Given the description of an element on the screen output the (x, y) to click on. 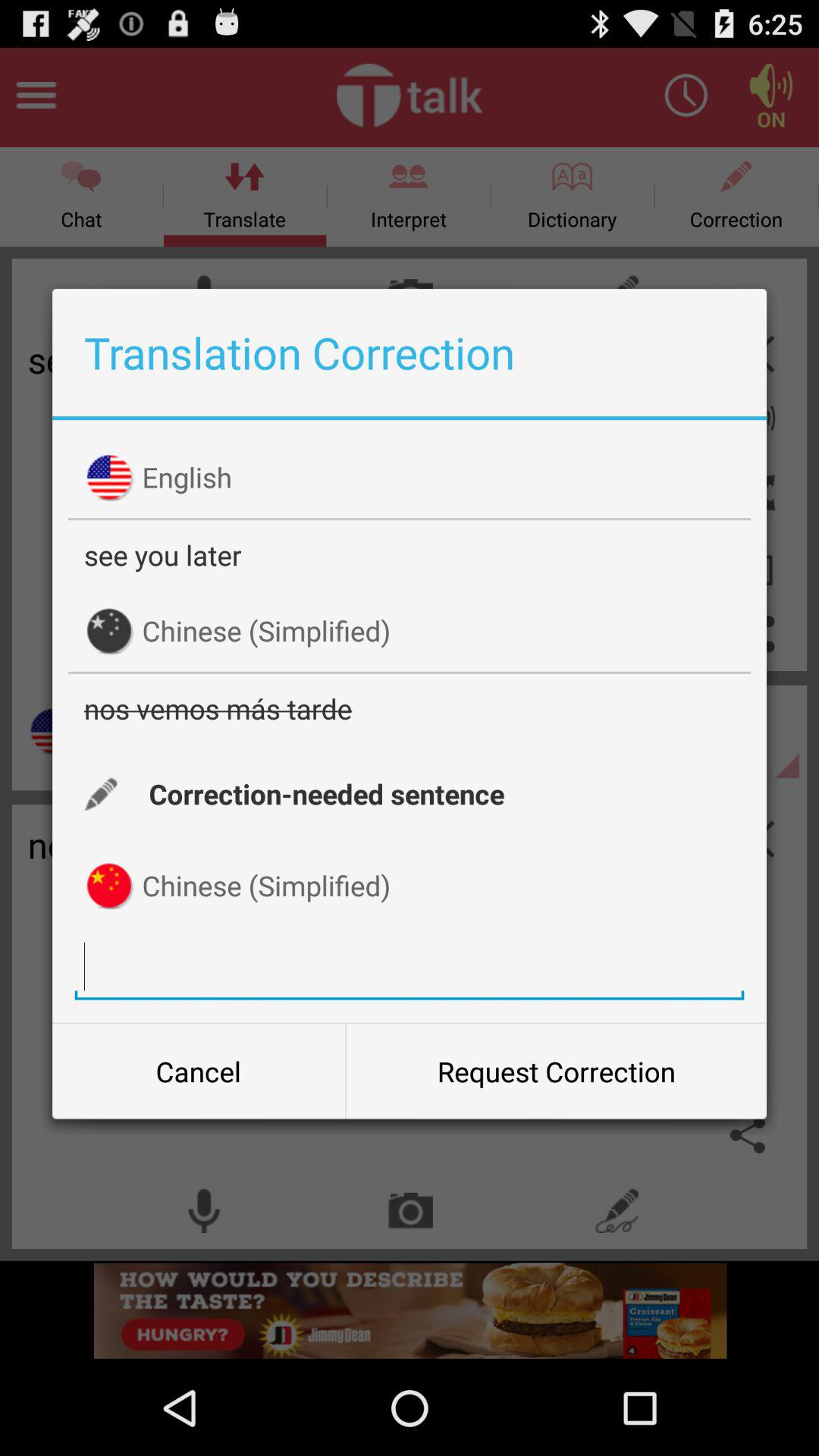
open button next to request correction icon (198, 1071)
